Given the description of an element on the screen output the (x, y) to click on. 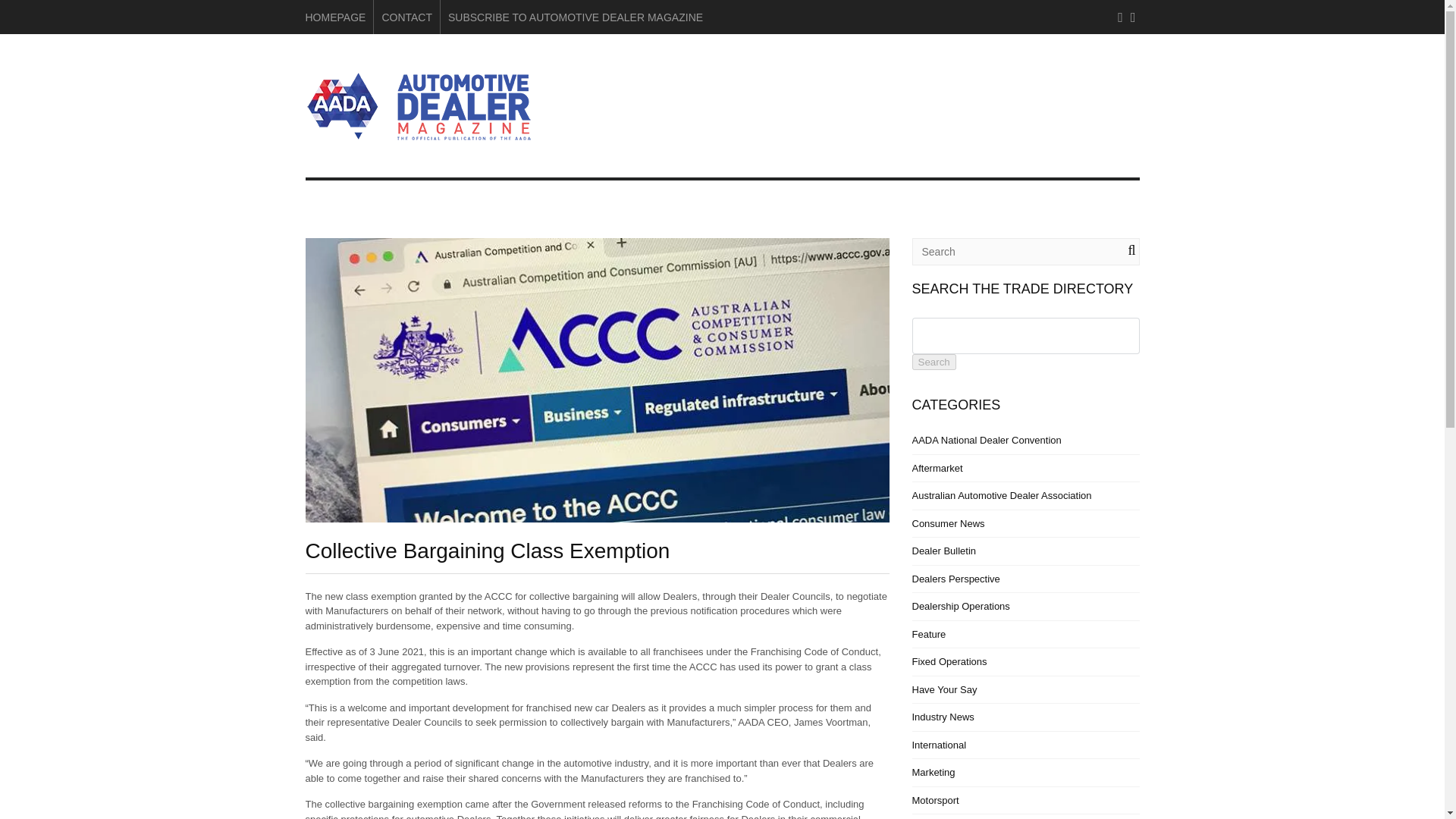
Aftermarket (936, 468)
Search (933, 361)
Industry News (942, 716)
AADA National Dealer Convention (986, 439)
Fixed Operations (949, 661)
Dealers Perspective (954, 578)
Search (933, 361)
Motorsport (934, 799)
Dealer Bulletin (943, 550)
Marketing (933, 772)
